Given the description of an element on the screen output the (x, y) to click on. 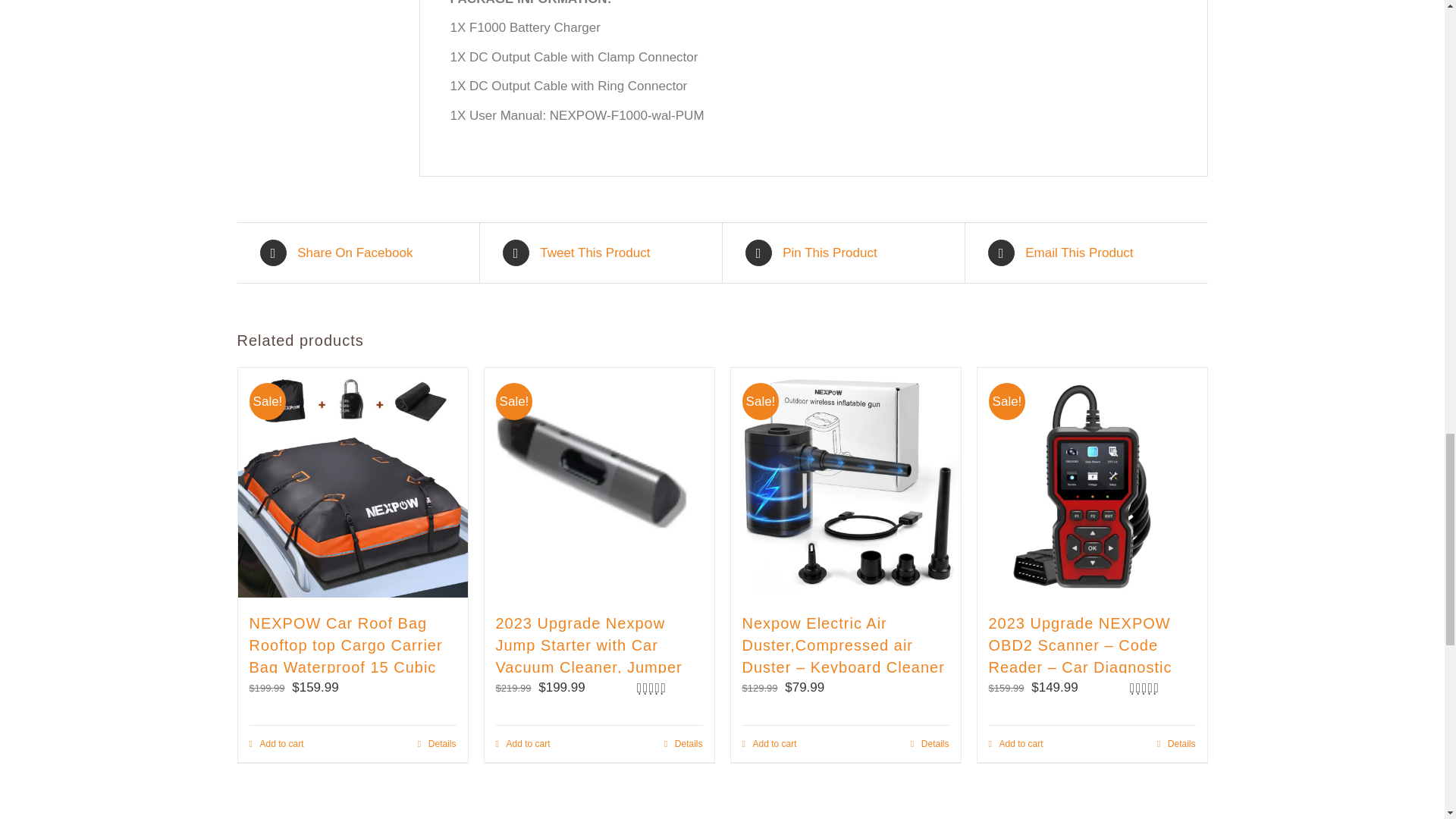
Details (683, 744)
Email This Product (1086, 252)
Sale! (352, 482)
Tweet This Product (600, 252)
Sale! (598, 482)
Share On Facebook (357, 252)
Add to cart (523, 744)
Add to cart (275, 744)
Details (437, 744)
Pin This Product (842, 252)
